Given the description of an element on the screen output the (x, y) to click on. 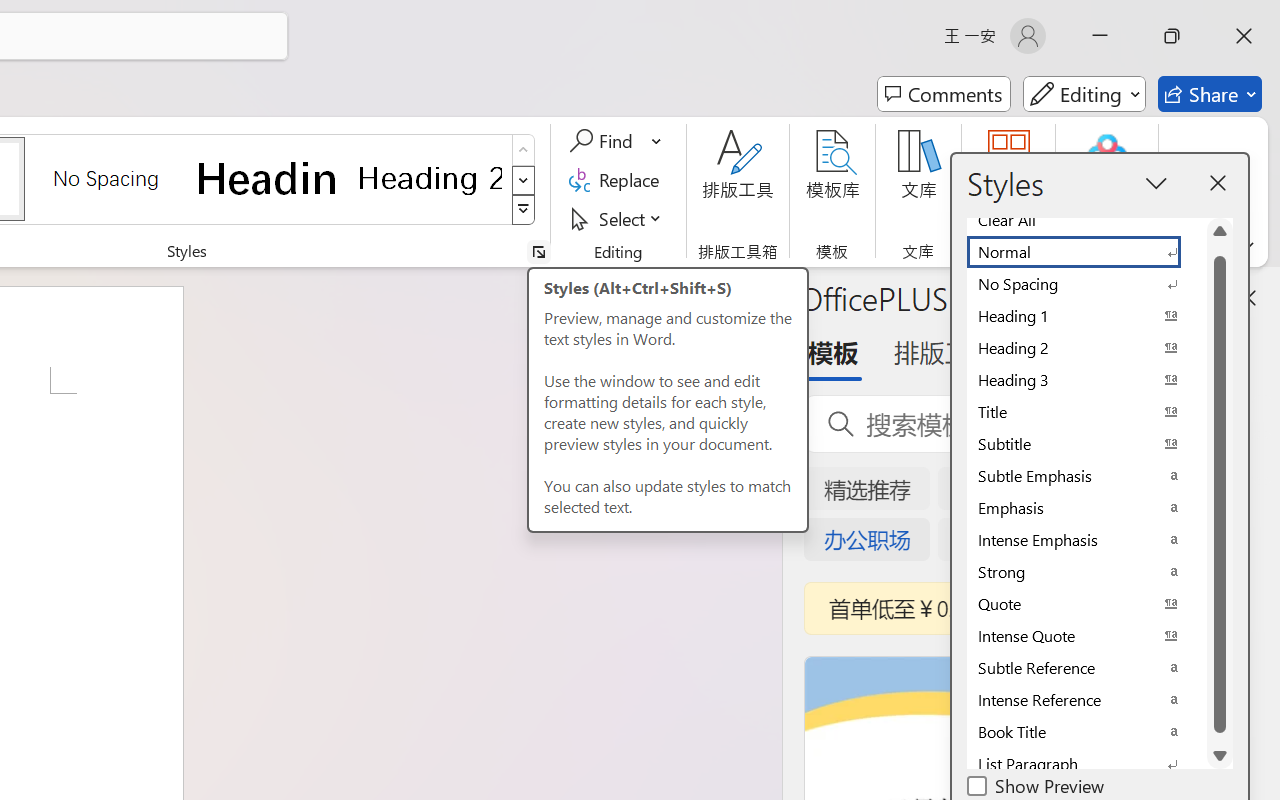
Heading 2 (429, 178)
Emphasis (1086, 508)
Intense Quote (1086, 636)
Heading 3 (1086, 380)
Close (1244, 36)
More Options (657, 141)
